Given the description of an element on the screen output the (x, y) to click on. 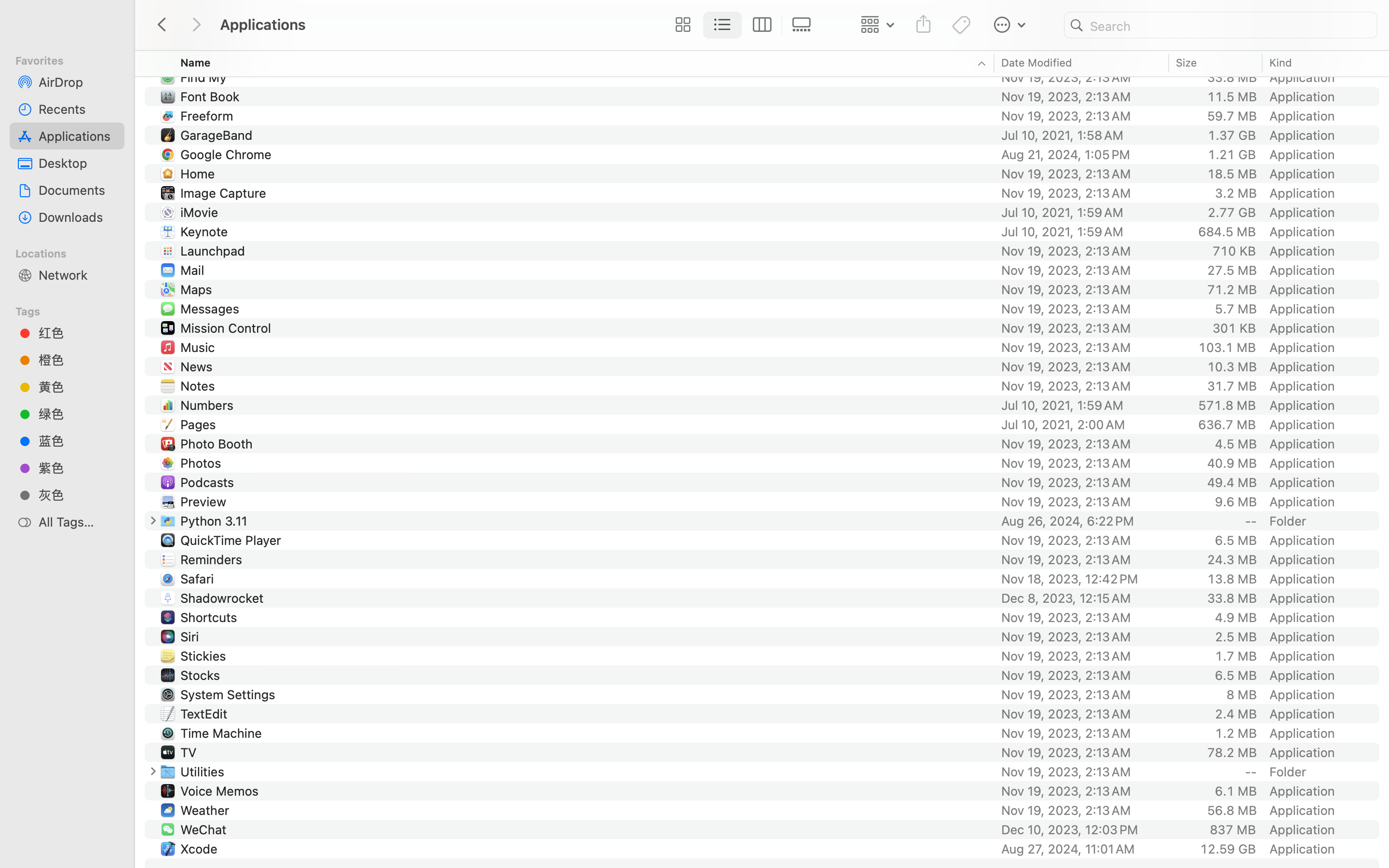
1.7 MB Element type: AXStaticText (1235, 655)
Kind Element type: AXStaticText (1280, 62)
1.2 MB Element type: AXStaticText (1235, 732)
Keynote Element type: AXTextField (206, 231)
Siri Element type: AXTextField (191, 636)
